Given the description of an element on the screen output the (x, y) to click on. 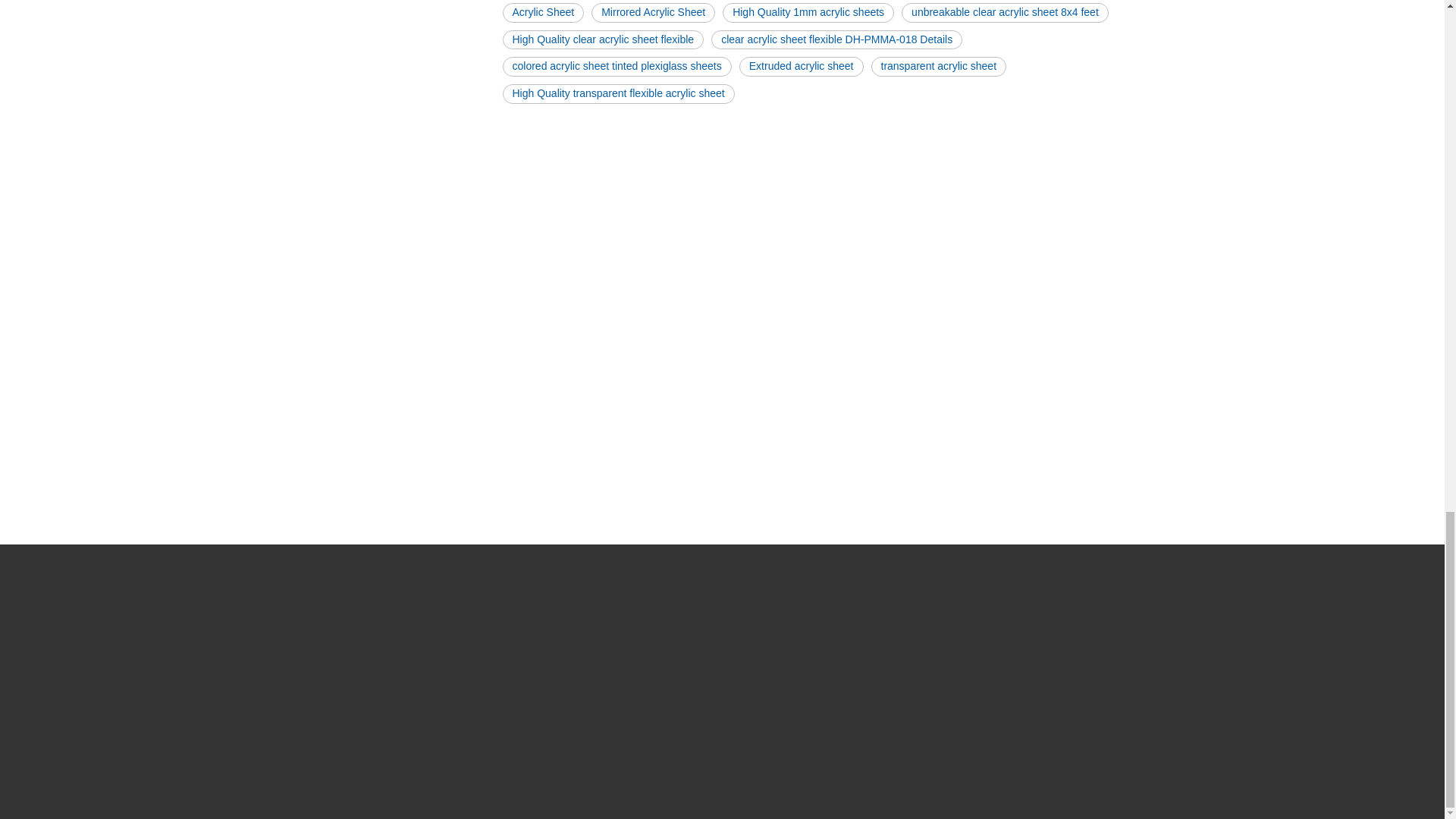
Mirrored Acrylic Sheet (652, 12)
High Quality clear acrylic sheet flexible (602, 39)
transparent acrylic sheet (938, 66)
High Quality transparent flexible acrylic sheet (617, 94)
High Quality 1mm acrylic sheets (807, 12)
unbreakable clear acrylic sheet 8x4 feet (1004, 12)
Extruded acrylic sheet (801, 66)
Acrylic Sheet (542, 12)
colored acrylic sheet tinted plexiglass sheets (616, 66)
clear acrylic sheet flexible DH-PMMA-018 Details (836, 39)
